Given the description of an element on the screen output the (x, y) to click on. 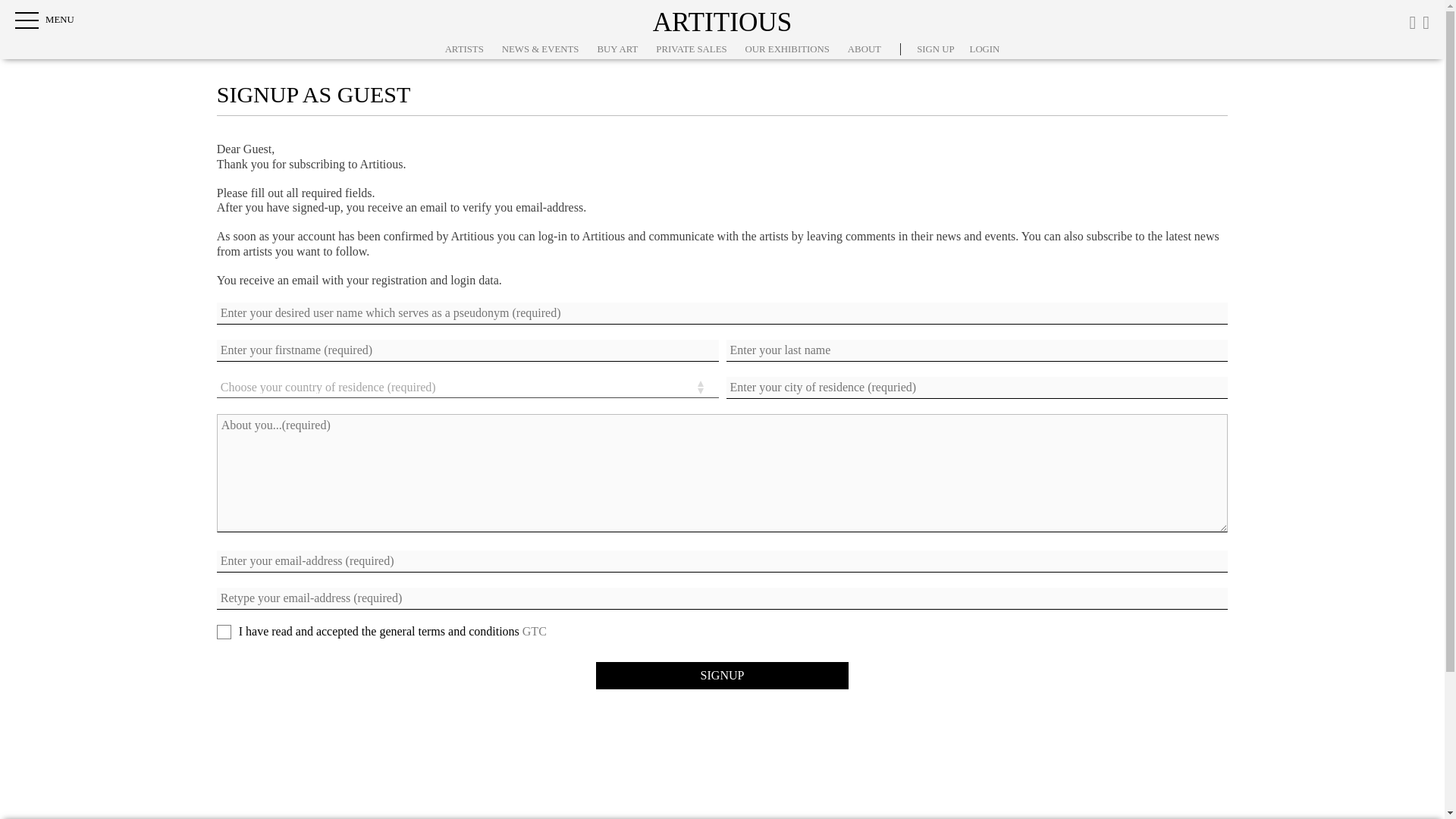
SIGN UP (935, 49)
SIGNUP (721, 675)
ABOUT (863, 49)
View exhibitions (787, 49)
Sign up to artitious (935, 49)
PRIVATE SALES (691, 49)
OUR EXHIBITIONS (787, 49)
Buy art on artitious (616, 49)
About artitious (863, 49)
View all artists on artitious (464, 49)
GTC (534, 631)
LOGIN (984, 49)
SIGNUP (721, 675)
ARTISTS (464, 49)
BUY ART (616, 49)
